Given the description of an element on the screen output the (x, y) to click on. 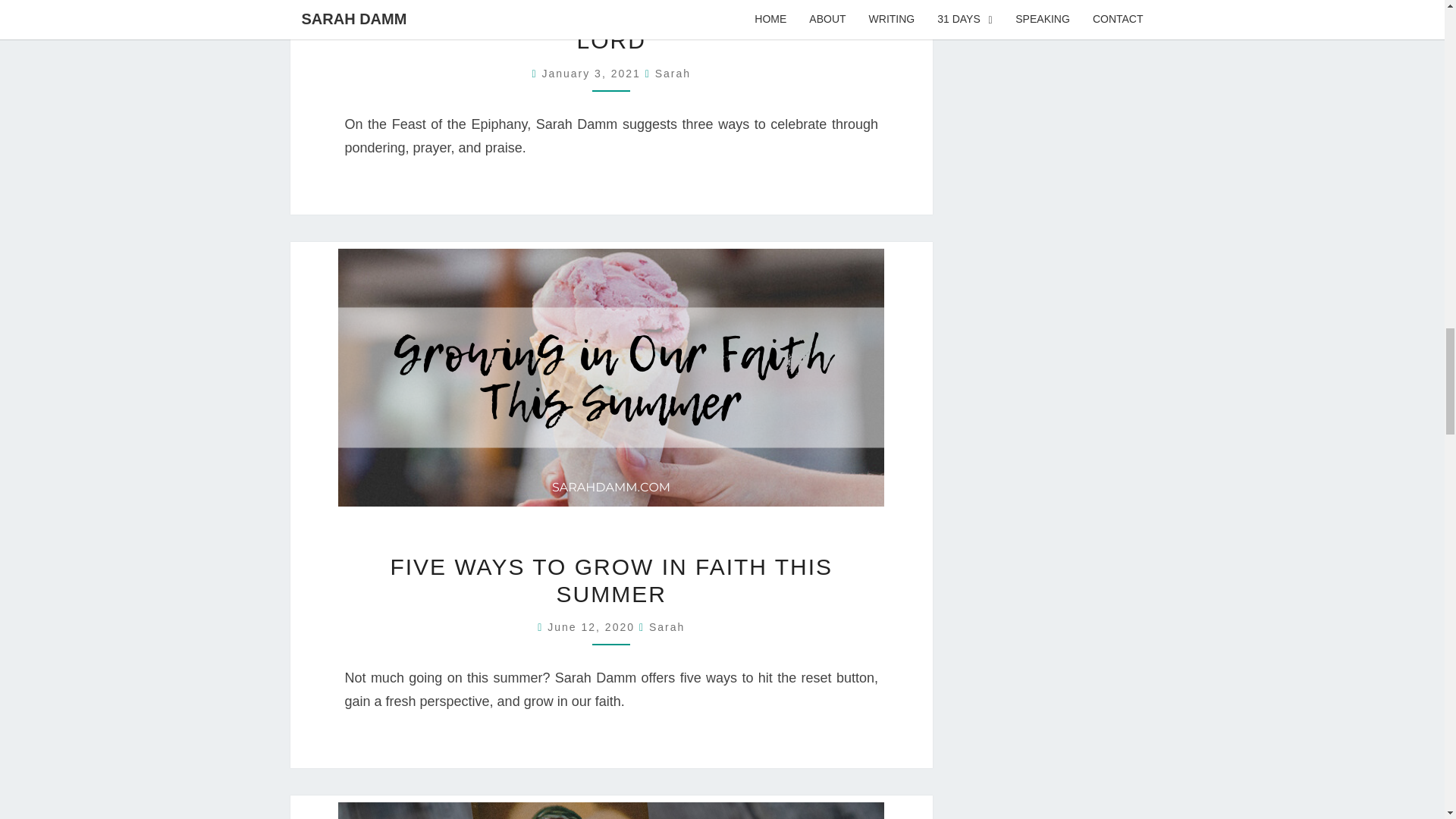
Sarah (672, 73)
View all posts by Sarah (672, 73)
12:47 pm (593, 626)
January 3, 2021 (593, 73)
8:51 pm (593, 73)
CELEBRATING THE EPIPHANY OF OUR LORD (610, 26)
View all posts by Sarah (666, 626)
FIVE WAYS TO GROW IN FAITH THIS SUMMER (611, 580)
Sarah (666, 626)
June 12, 2020 (593, 626)
